Given the description of an element on the screen output the (x, y) to click on. 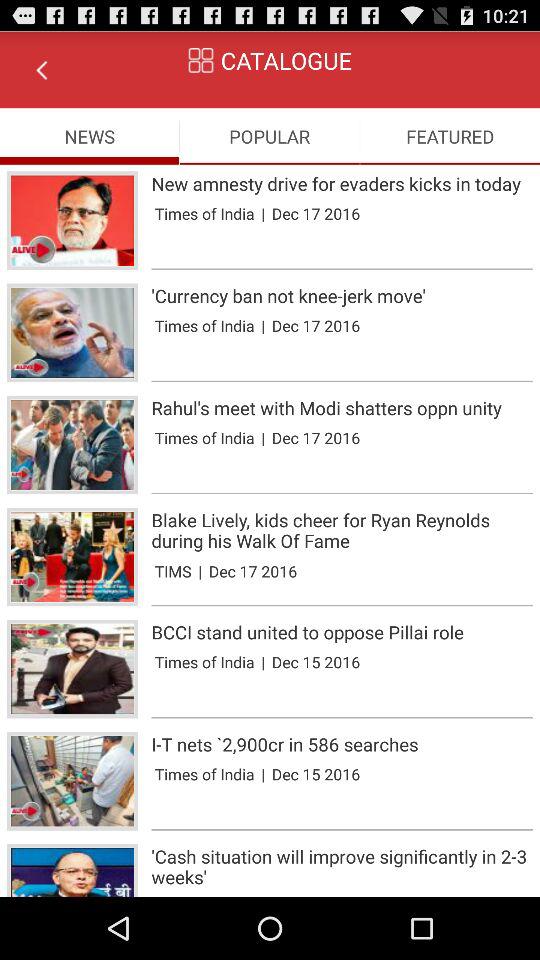
go back (41, 69)
